Given the description of an element on the screen output the (x, y) to click on. 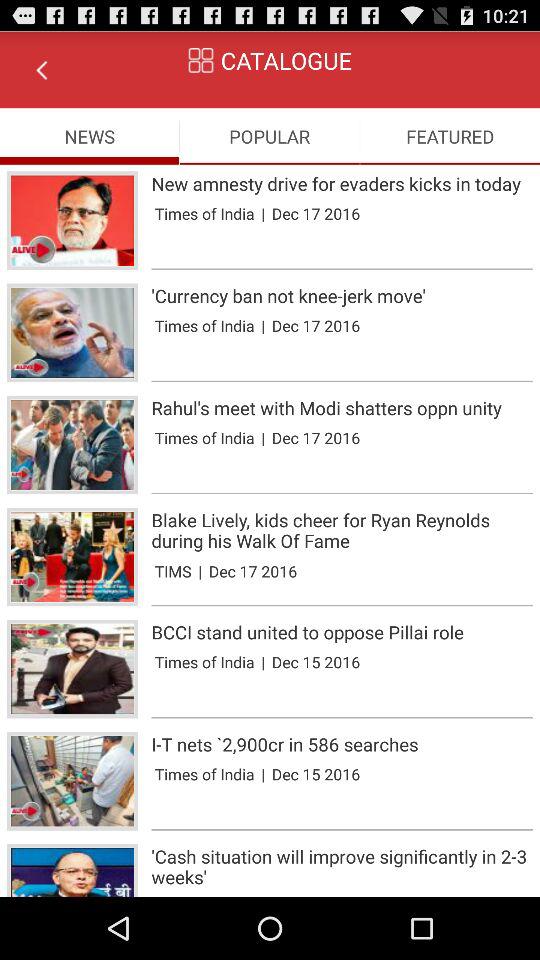
go back (41, 69)
